Given the description of an element on the screen output the (x, y) to click on. 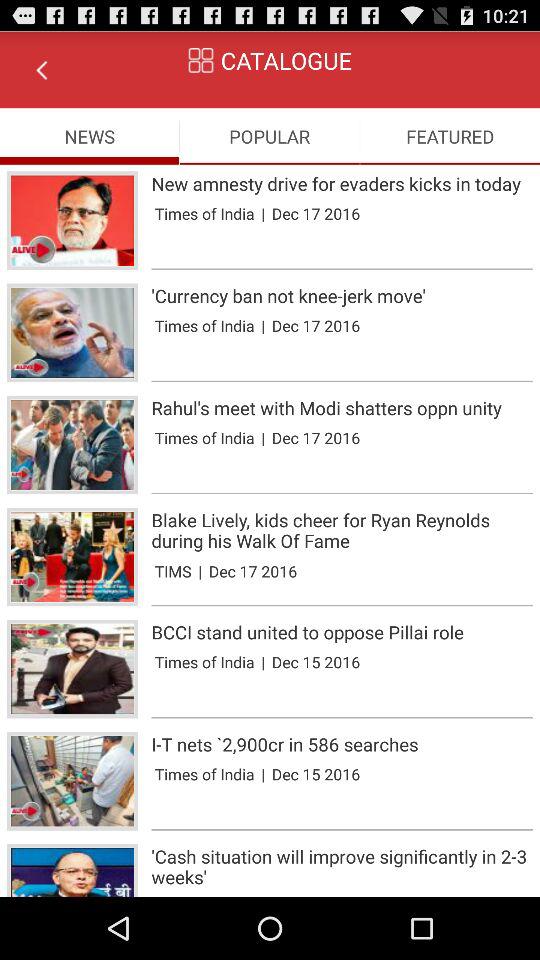
go back (41, 69)
